Given the description of an element on the screen output the (x, y) to click on. 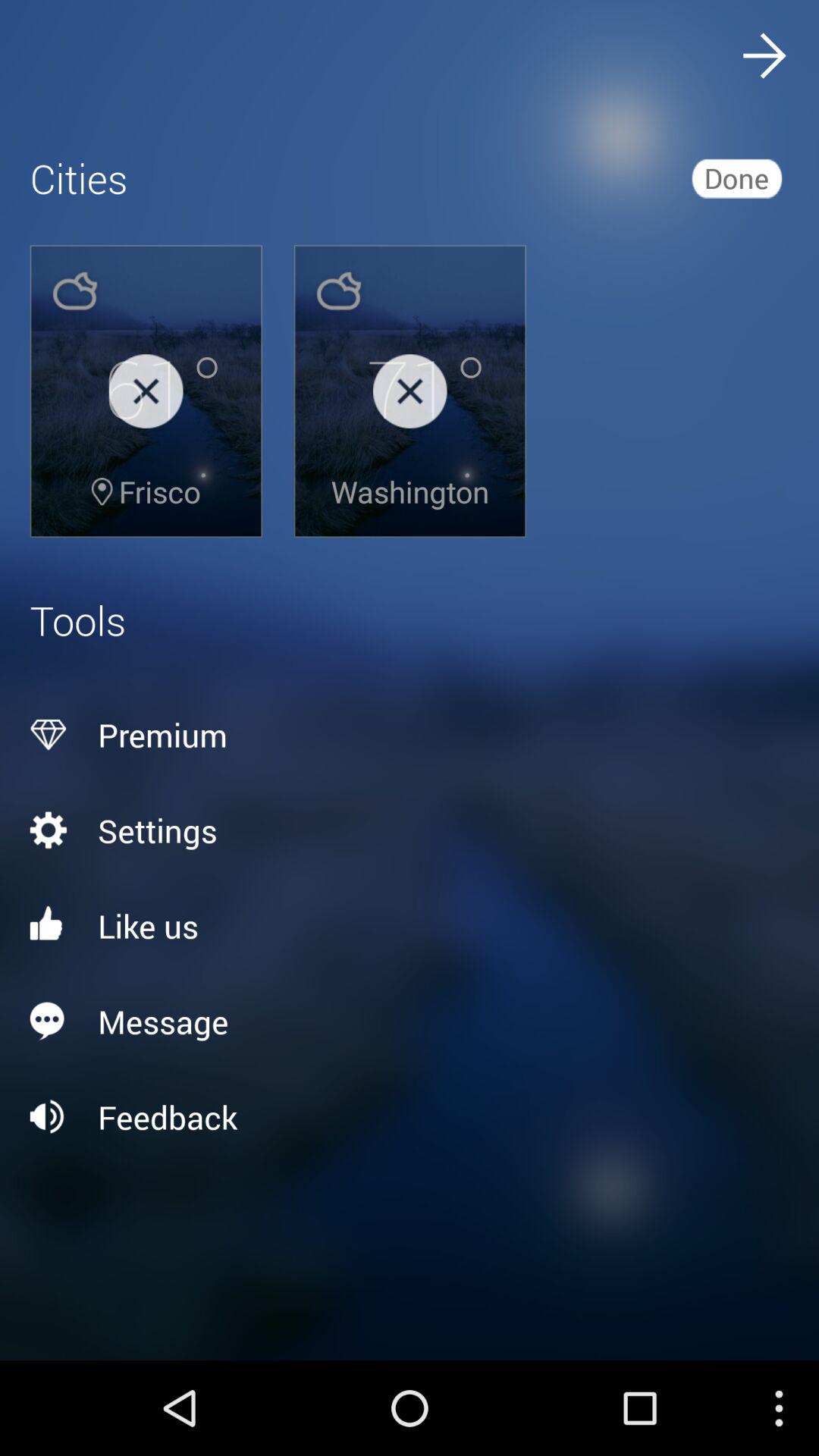
open the app above settings (409, 734)
